Given the description of an element on the screen output the (x, y) to click on. 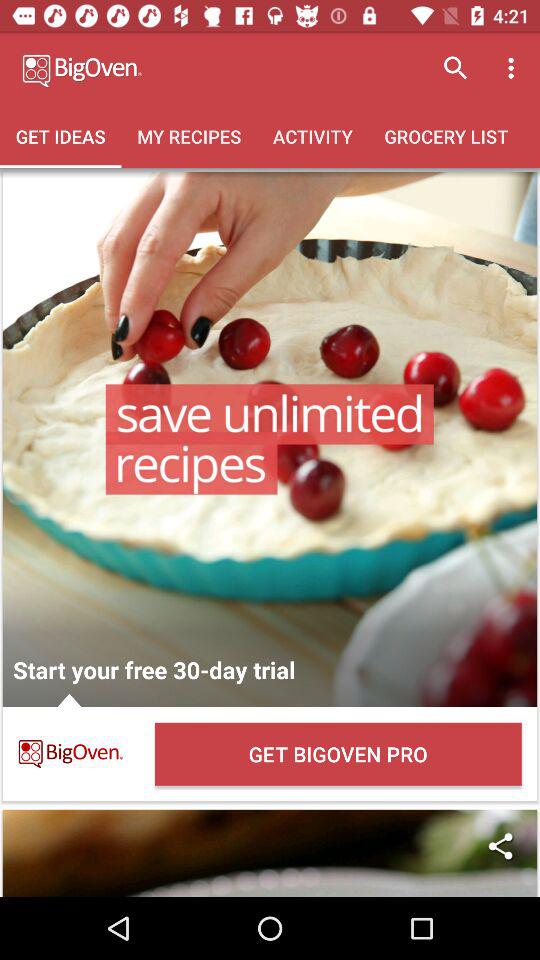
select icon above grocery list icon (455, 67)
